Given the description of an element on the screen output the (x, y) to click on. 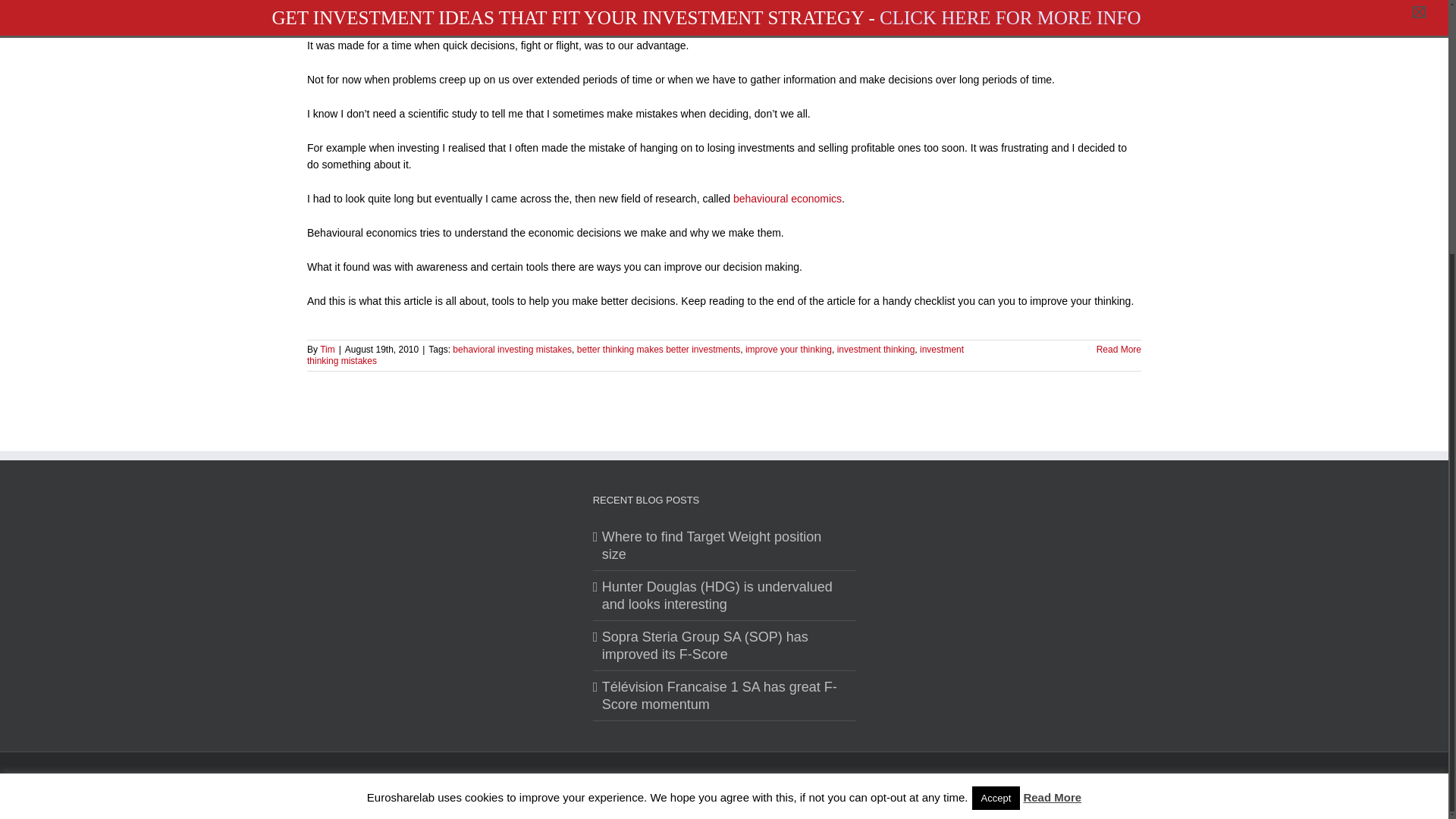
Posts by Tim (327, 348)
